Given the description of an element on the screen output the (x, y) to click on. 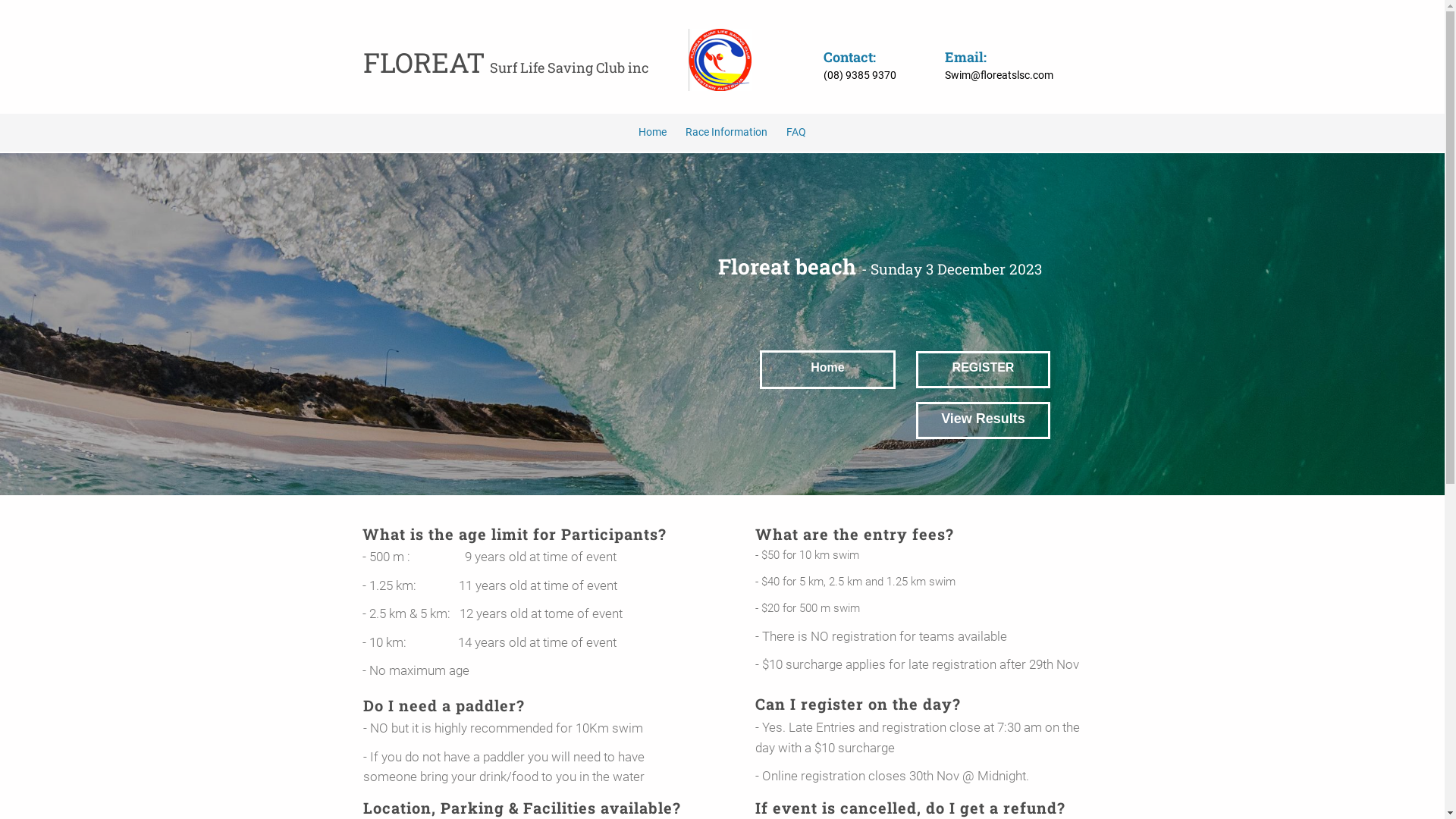
FAQ Element type: text (796, 131)
Home Element type: text (652, 131)
Race Information Element type: text (726, 131)
